Given the description of an element on the screen output the (x, y) to click on. 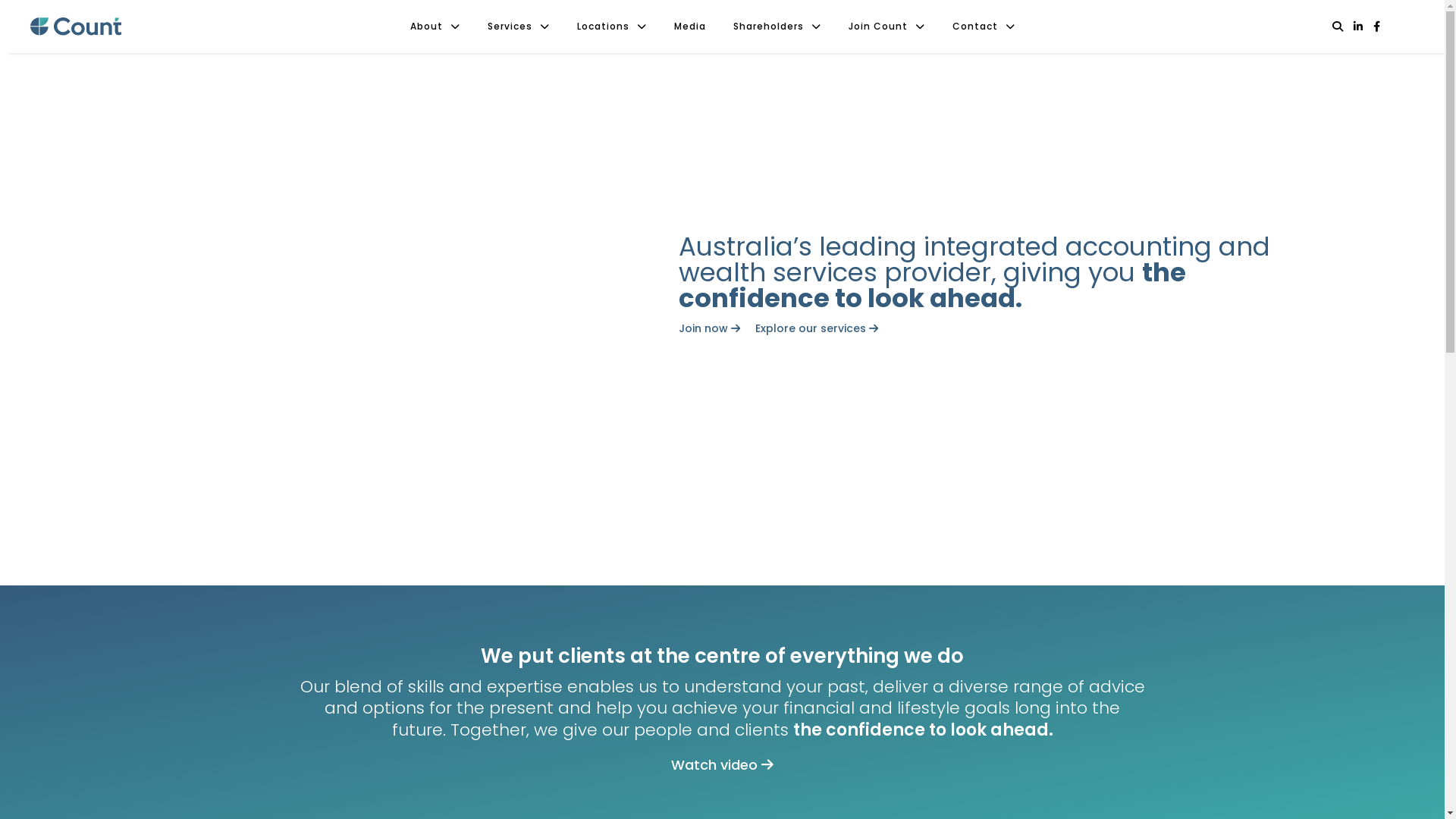
Media Element type: text (690, 26)
Locations Element type: text (611, 26)
Contact Element type: text (983, 26)
About Element type: text (435, 26)
Explore our services Element type: text (816, 327)
Join Count Element type: text (886, 26)
Shareholders Element type: text (777, 26)
Services Element type: text (518, 26)
Join now Element type: text (709, 327)
Watch video Element type: text (722, 764)
